Given the description of an element on the screen output the (x, y) to click on. 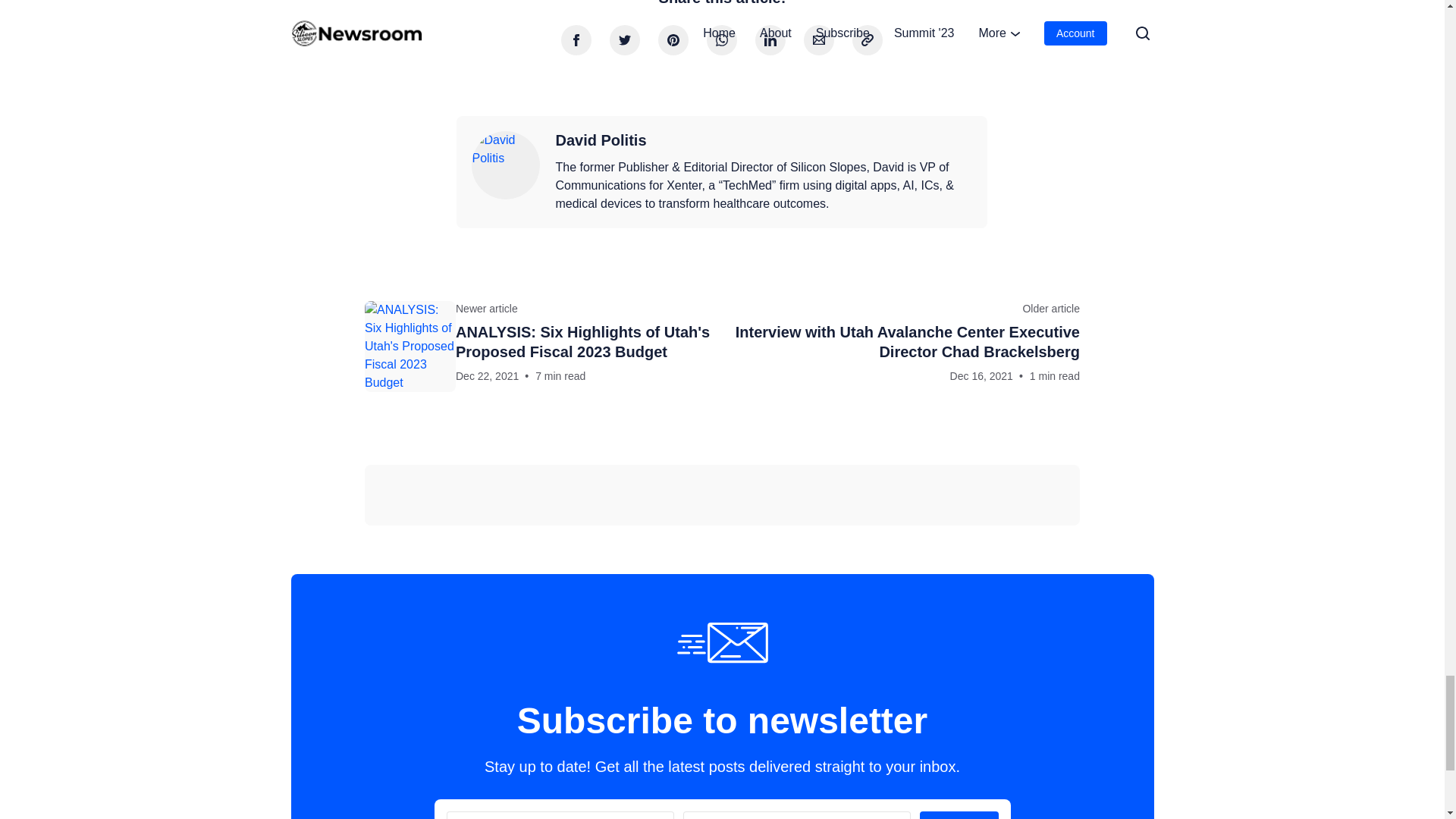
Share on Whatsapp (721, 40)
Share on Facebook (575, 40)
Share on Twitter (625, 40)
Share on Pinterest (673, 40)
Send via email (818, 40)
David Politis (600, 140)
Share on Linkedin (770, 40)
Copy the permalink (866, 40)
David Politis (505, 165)
